Given the description of an element on the screen output the (x, y) to click on. 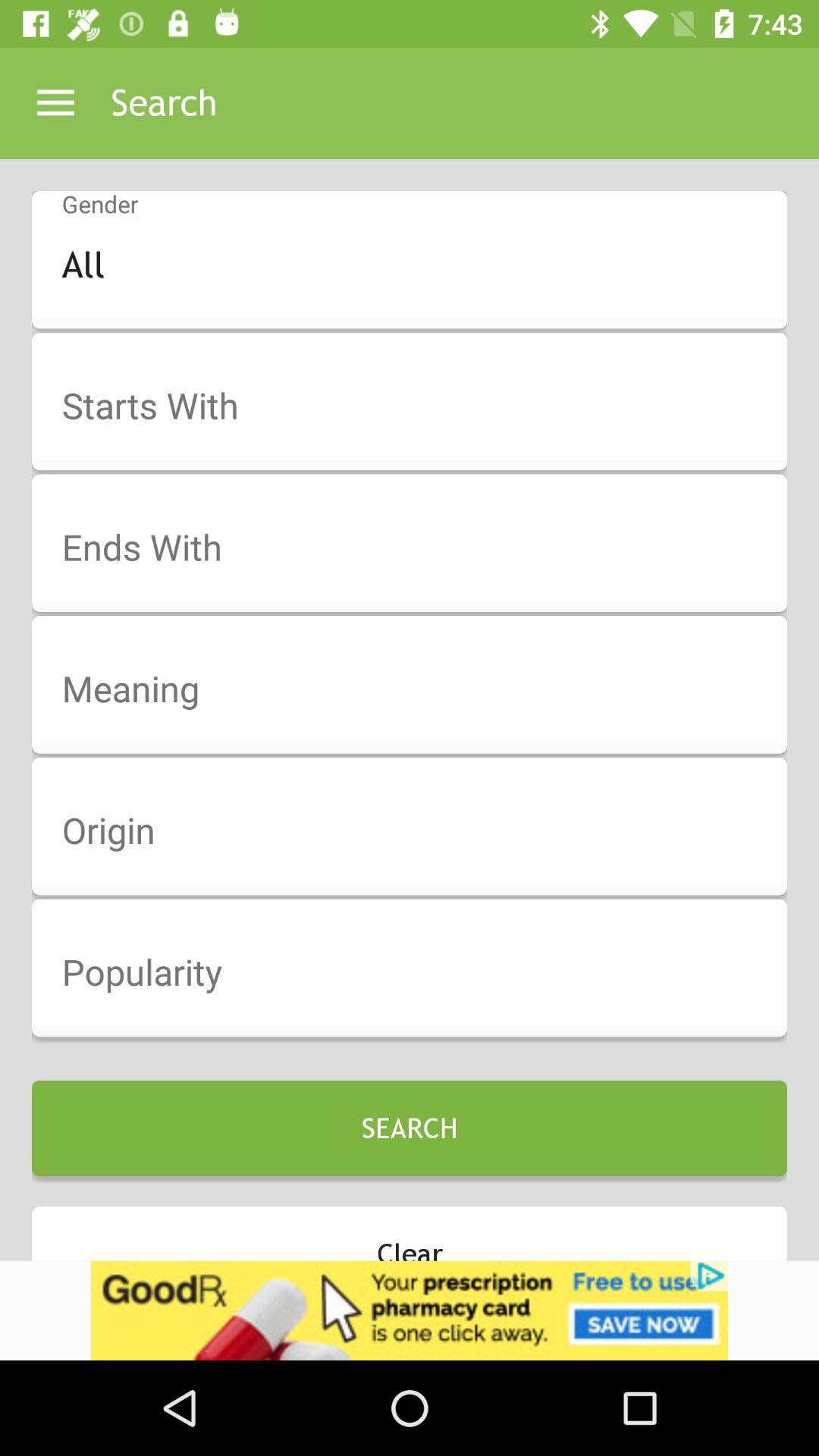
enter the meaning letter (419, 690)
